Given the description of an element on the screen output the (x, y) to click on. 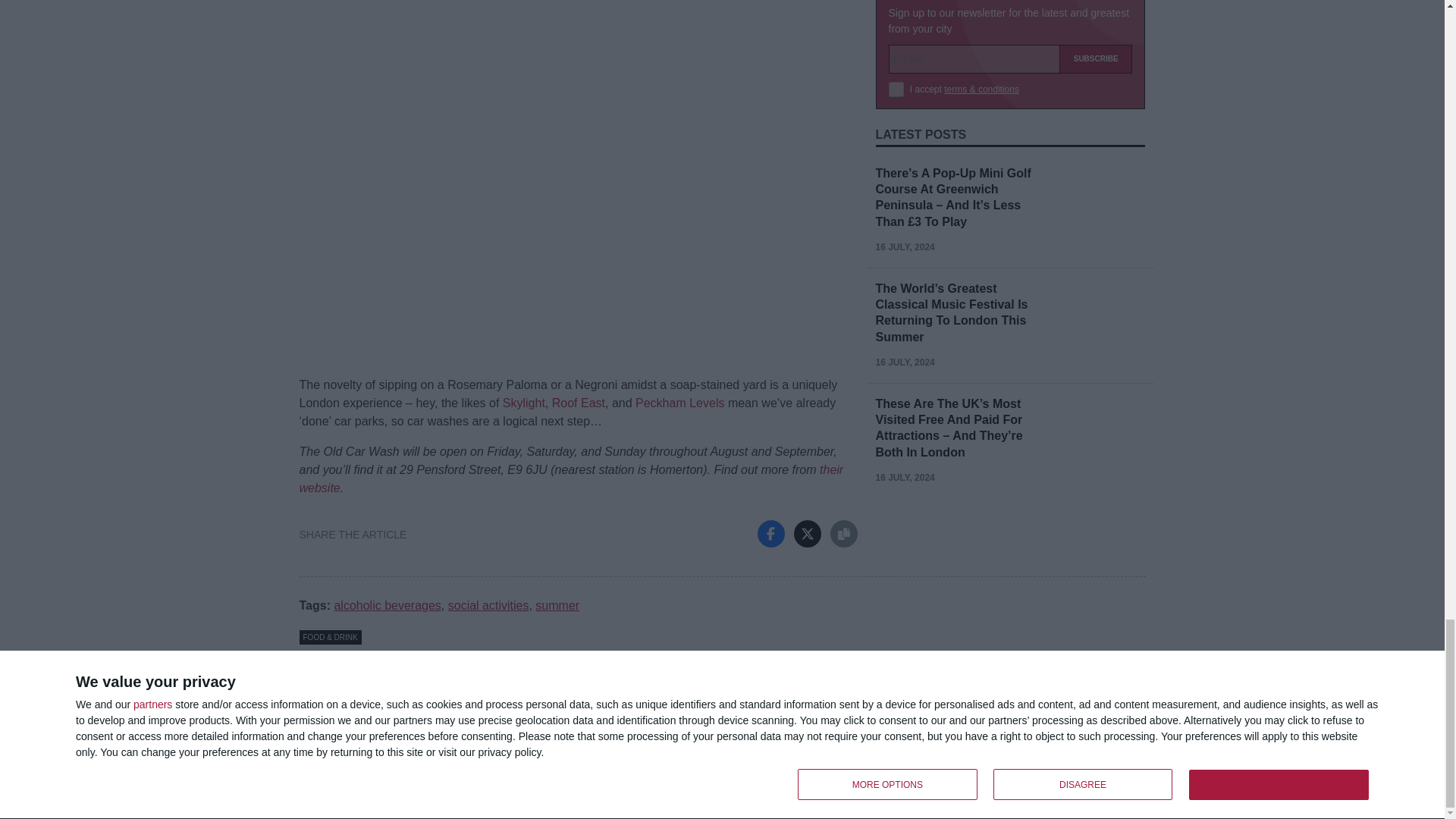
their website (570, 478)
Skylight (523, 402)
Peckham Levels (678, 402)
Roof East (578, 402)
